Given the description of an element on the screen output the (x, y) to click on. 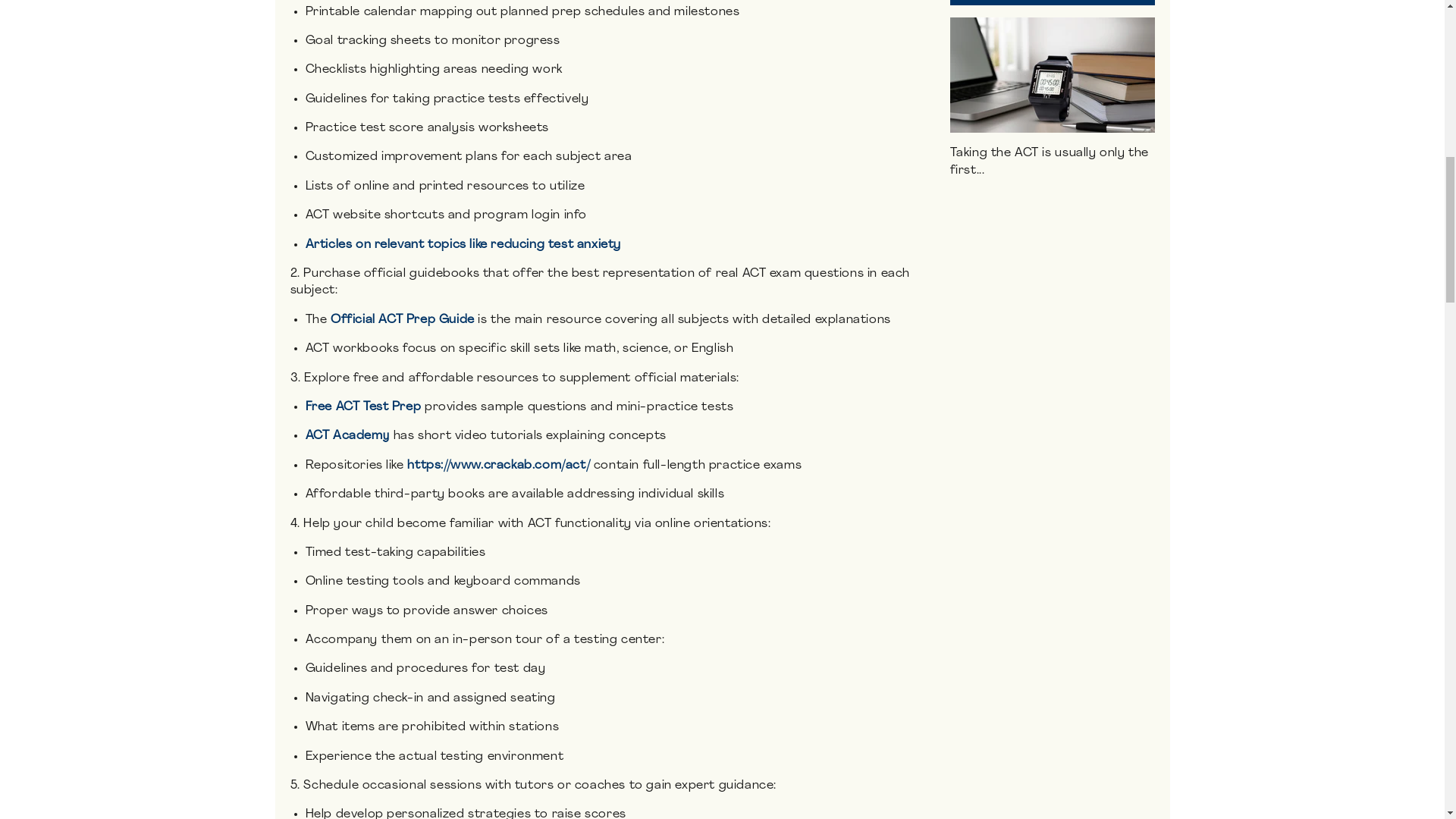
ACT Academy (347, 435)
Free ACT Test Prep (362, 407)
Official ACT Prep Guide (402, 319)
Articles on relevant topics like reducing test anxiety (462, 244)
